Given the description of an element on the screen output the (x, y) to click on. 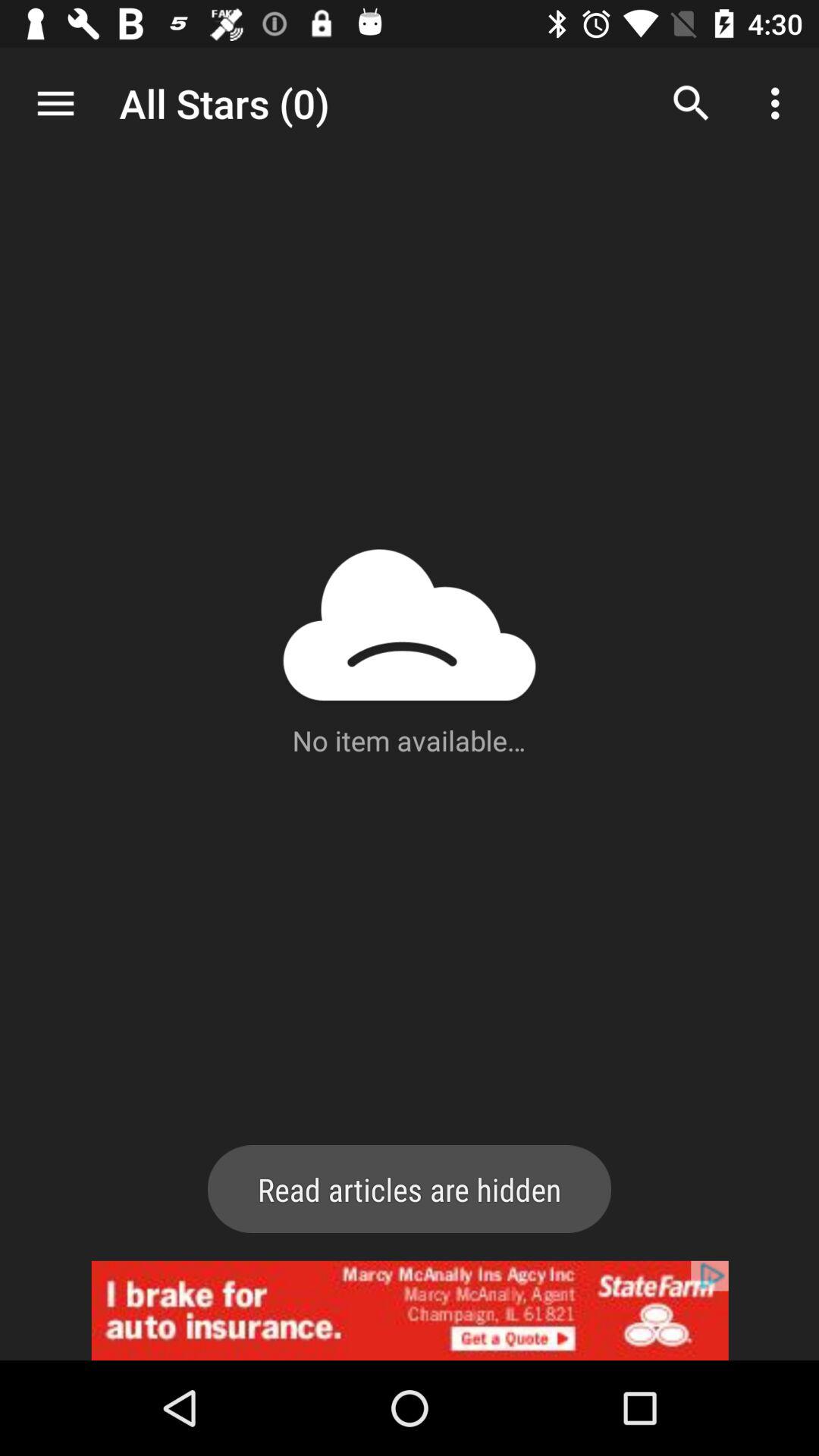
advertisement banner (409, 1310)
